Given the description of an element on the screen output the (x, y) to click on. 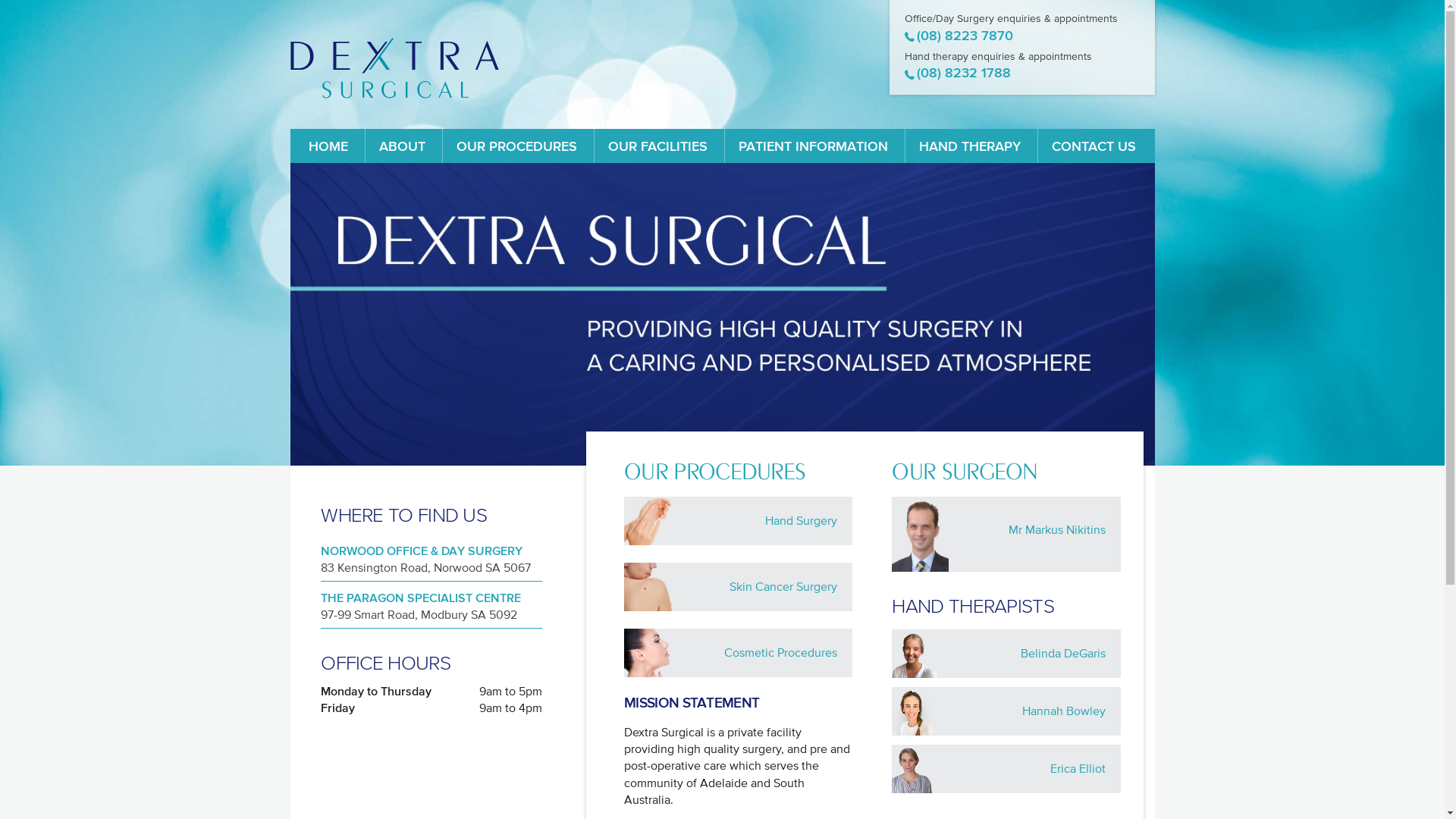
CONTACT US Element type: text (1093, 145)
Mr Markus Nikitins Element type: text (1005, 533)
Belinda DeGaris Element type: text (1005, 653)
ABOUT Element type: text (402, 145)
OUR FACILITIES Element type: text (657, 145)
OUR PROCEDURES Element type: text (516, 145)
(08) 8223 7870 Element type: text (957, 35)
Cosmetic Procedures Element type: text (738, 652)
HAND THERAPY Element type: text (969, 145)
Hand Surgery Element type: text (738, 520)
Hannah Bowley Element type: text (1005, 711)
(08) 8232 1788 Element type: text (956, 72)
Skin Cancer Surgery Element type: text (738, 586)
HOME Element type: text (327, 145)
PATIENT INFORMATION Element type: text (812, 145)
Erica Elliot Element type: text (1005, 768)
